Given the description of an element on the screen output the (x, y) to click on. 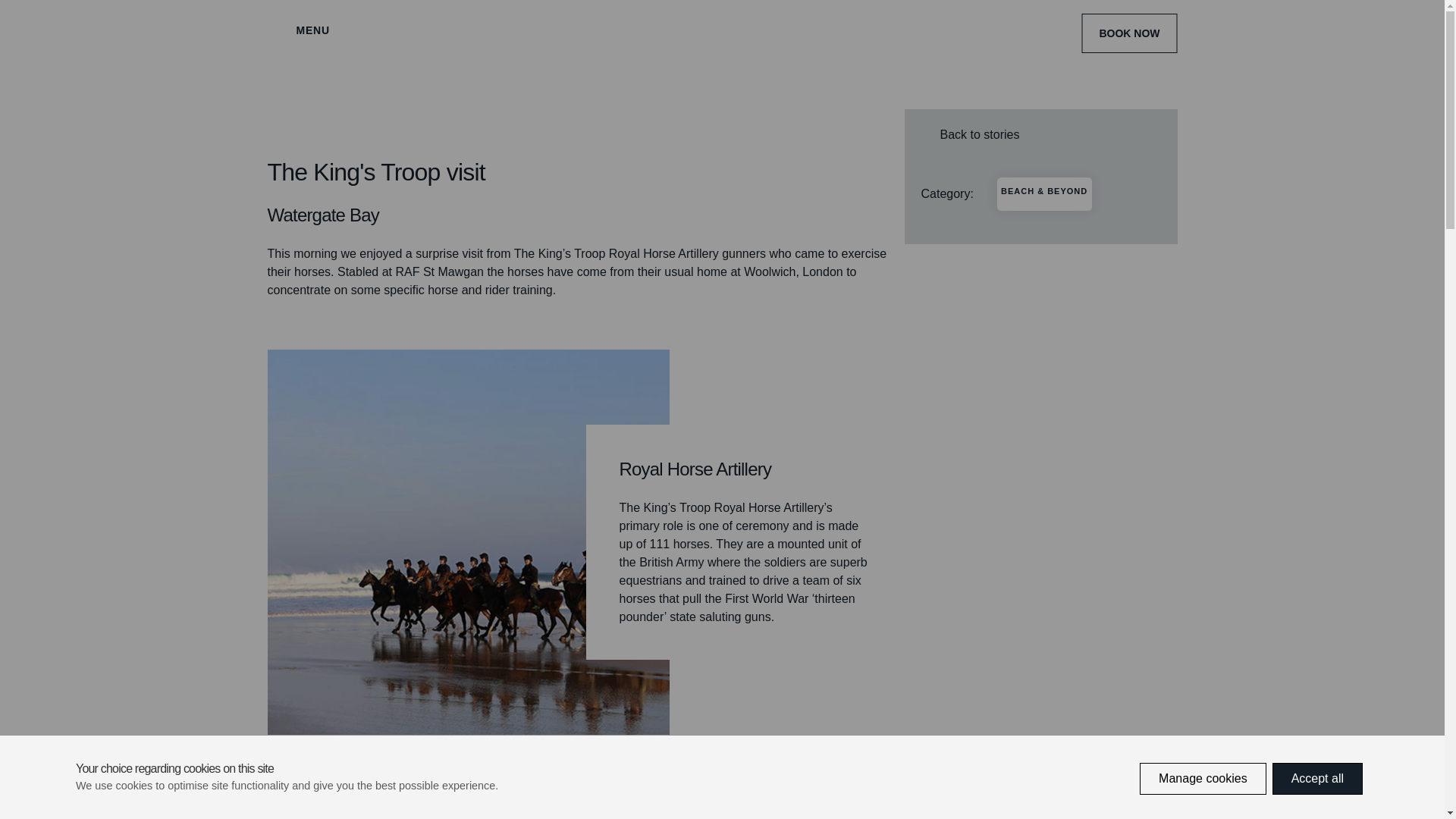
Manage cookies (1203, 805)
Cookie Preferences (30, 788)
launcher (1403, 790)
